Given the description of an element on the screen output the (x, y) to click on. 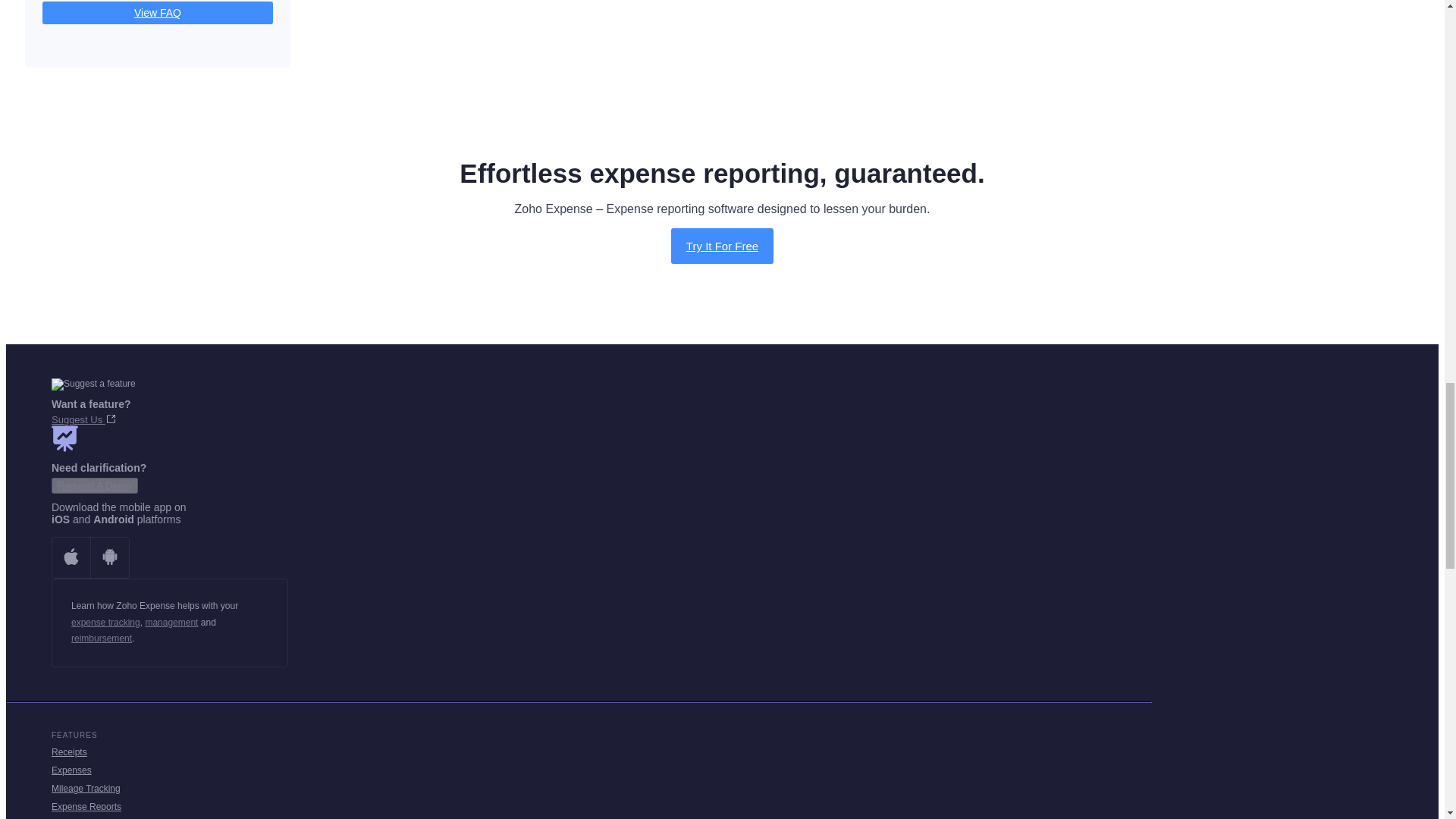
Suggest Us (82, 419)
management (171, 622)
Mileage Tracking (85, 787)
reimbursement (101, 638)
Expense Reports (85, 806)
Expenses (70, 769)
expense tracking (105, 622)
Try It For Free (722, 245)
View FAQ (157, 12)
Receipts (68, 751)
Request A Demo (94, 485)
